Given the description of an element on the screen output the (x, y) to click on. 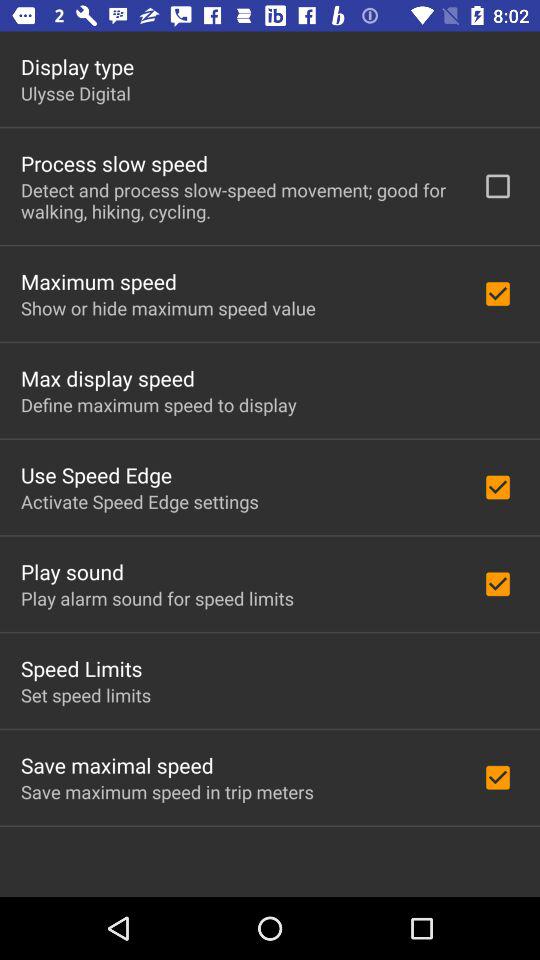
click the icon above the maximum speed item (238, 200)
